Given the description of an element on the screen output the (x, y) to click on. 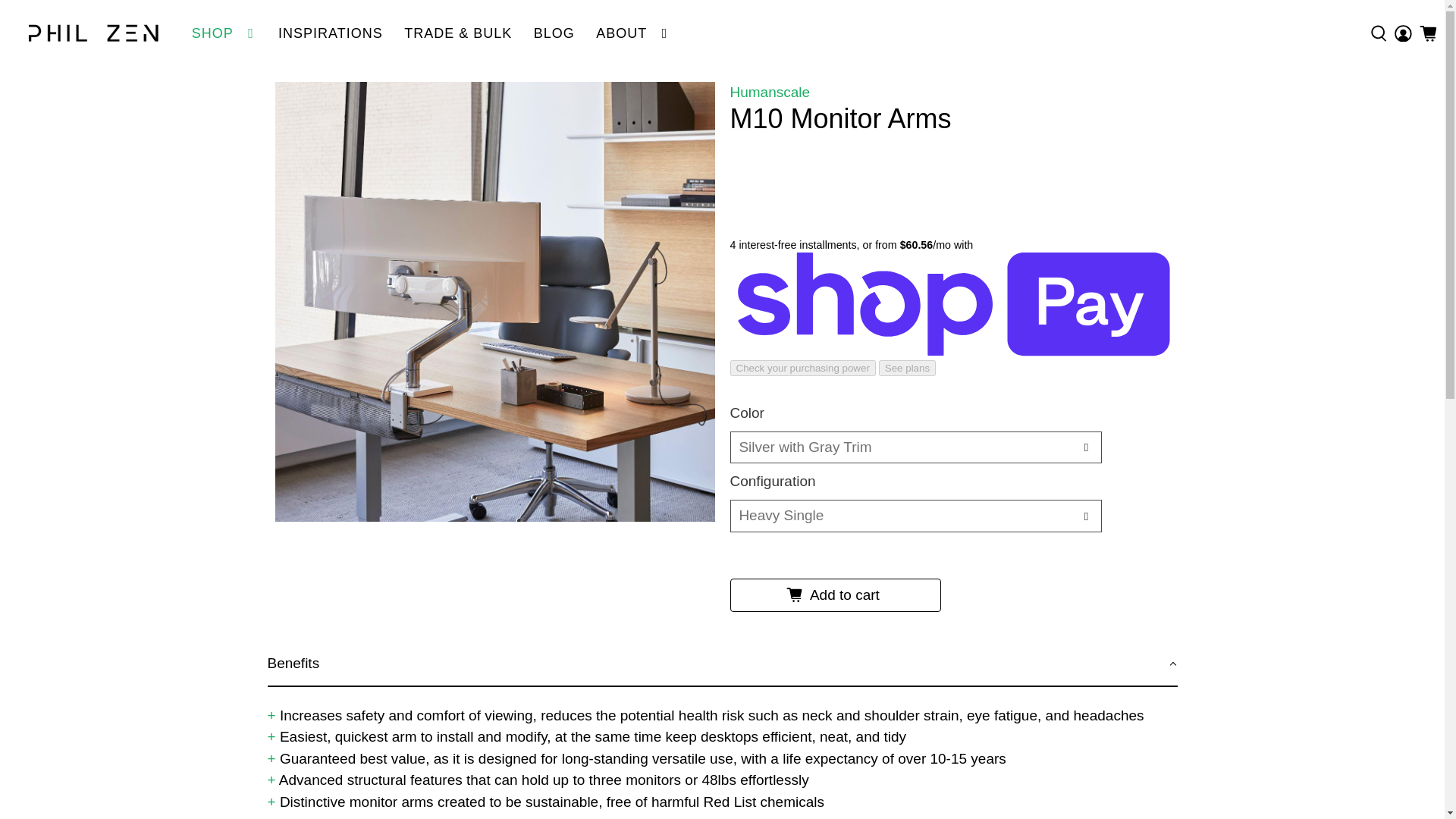
BLOG (554, 33)
Phil Zen (93, 33)
SHOP (223, 33)
ABOUT (633, 33)
INSPIRATIONS (330, 33)
